Given the description of an element on the screen output the (x, y) to click on. 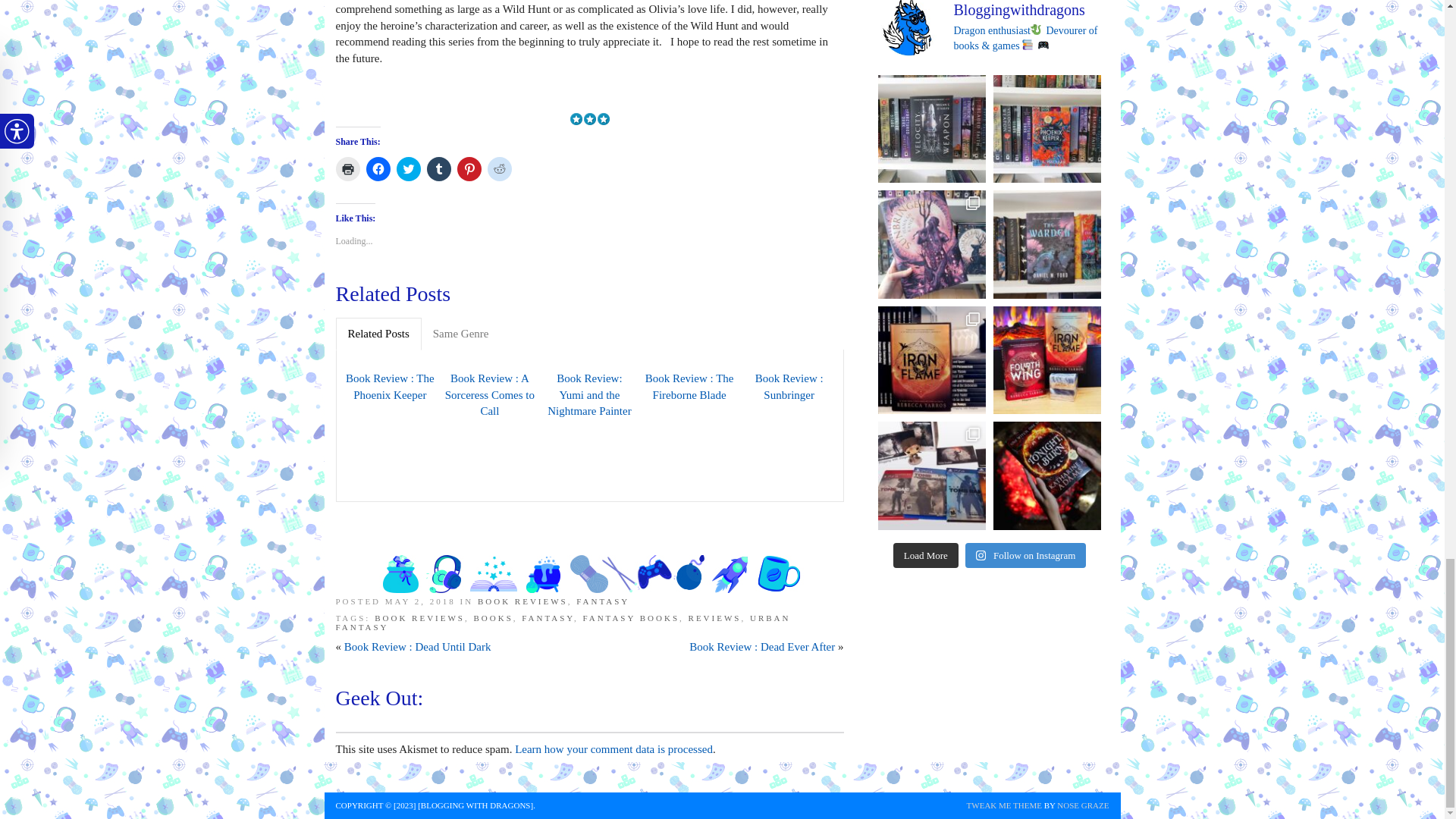
Click to share on Tumblr (437, 168)
Click to share on Pinterest (468, 168)
View all posts in Fantasy (602, 601)
Click to share on Twitter (408, 168)
Related Posts (378, 333)
Book Review : The Phoenix Keeper (389, 386)
Click to share on Facebook (377, 168)
View all posts in Book Reviews (522, 601)
Book Review: Yumi and the Nightmare Painter (590, 395)
Book Review : A Sorceress Comes to Call (489, 395)
Click to share on Reddit (498, 168)
Click to print (346, 168)
Same Genre (461, 333)
